Given the description of an element on the screen output the (x, y) to click on. 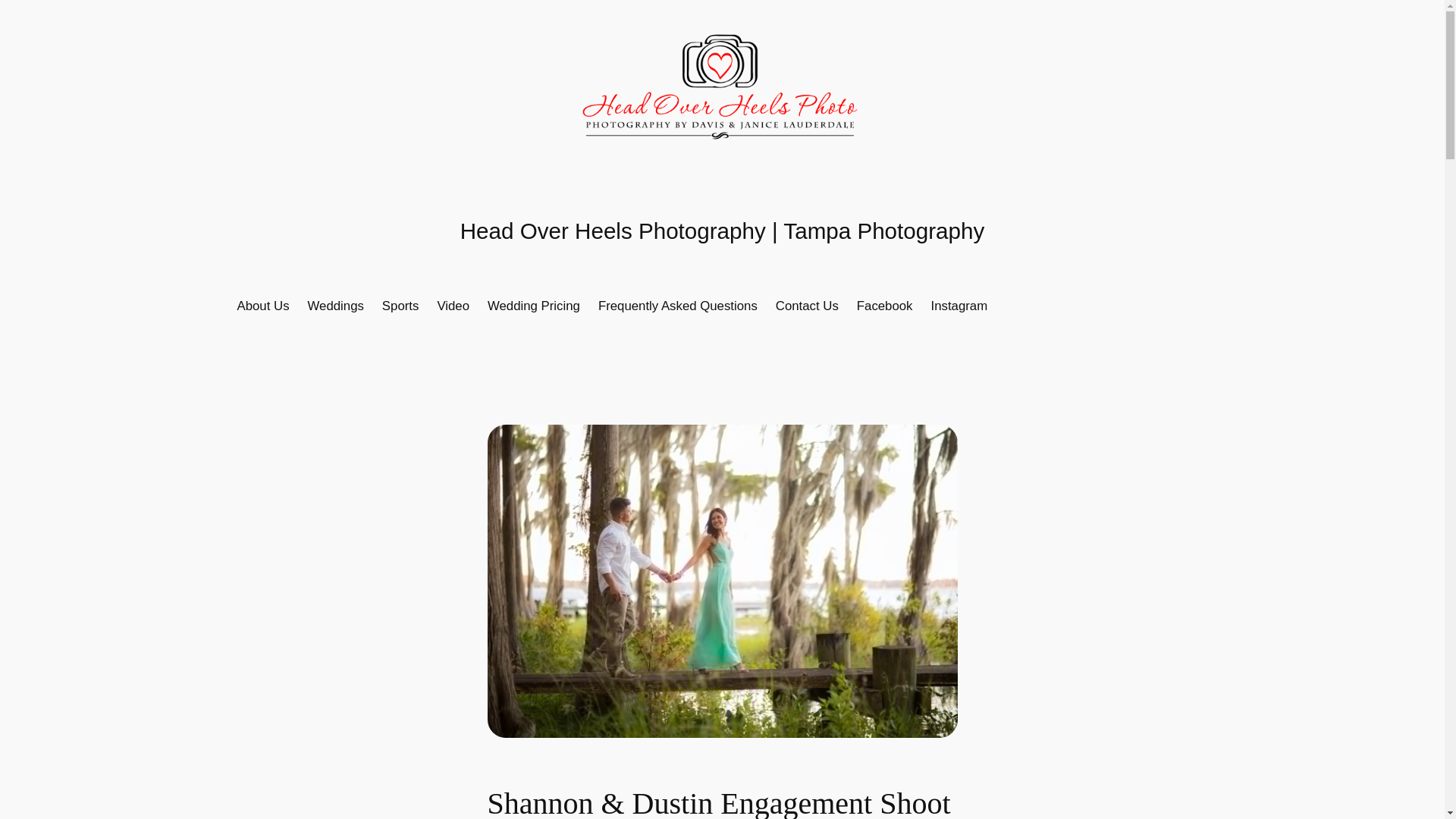
Wedding Pricing (533, 306)
Sports (400, 306)
Contact Us (807, 306)
Video (452, 306)
Frequently Asked Questions (677, 306)
About Us (261, 306)
Weddings (335, 306)
Instagram (959, 306)
Facebook (884, 306)
